Given the description of an element on the screen output the (x, y) to click on. 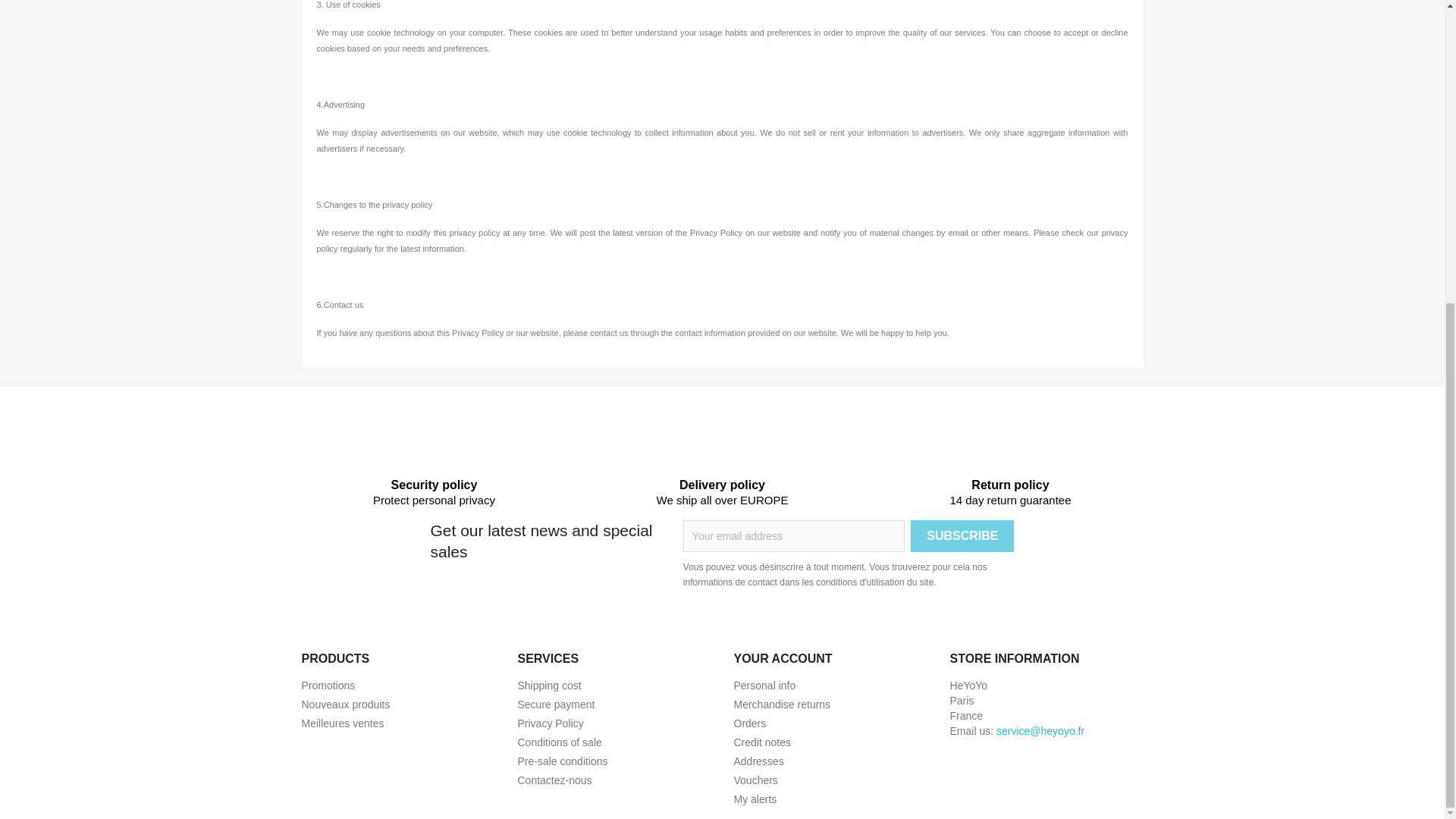
YOUR ACCOUNT (782, 658)
Orders (750, 723)
Nos nouveaux produits (345, 704)
Promotions (328, 685)
Delivery charges to Heyoyo (548, 685)
Meilleures ventes (342, 723)
Merchandise returns (782, 704)
Nos meilleures ventes (342, 723)
Shipping cost (548, 685)
Heyoyo Online Terms of Sale (558, 742)
